Given the description of an element on the screen output the (x, y) to click on. 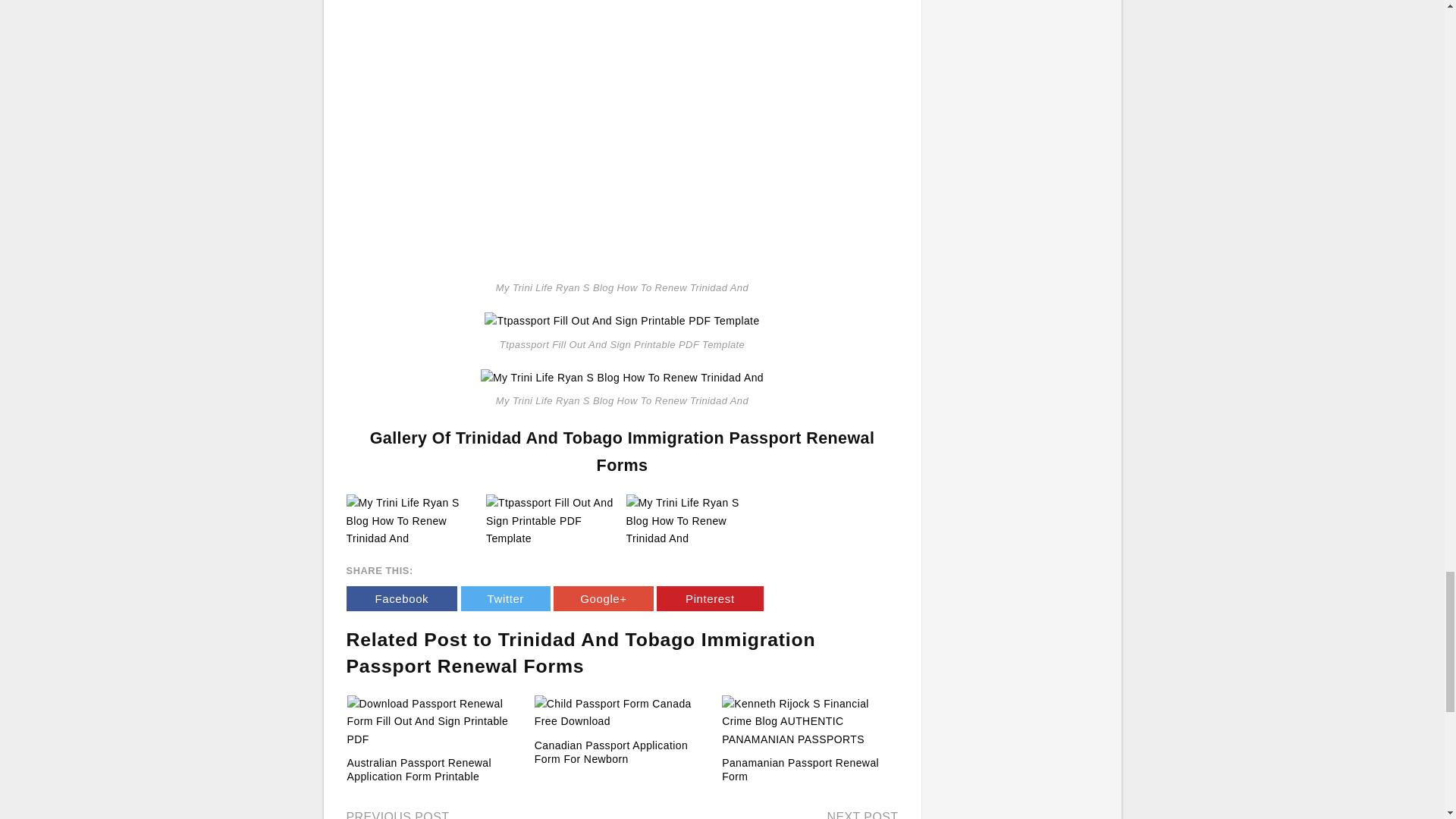
Ttpassport Fill Out And Sign Printable PDF Template (552, 520)
My Trini Life Ryan S Blog How To Renew Trinidad And (412, 520)
Twitter (505, 598)
My Trini Life Ryan S Blog How To Renew Trinidad And (692, 520)
Ttpassport Fill Out And Sign Printable PDF Template (552, 520)
My Trini Life Ryan S Blog How To Renew Trinidad And (412, 520)
My Trini Life Ryan S Blog How To Renew Trinidad And (692, 520)
Ttpassport Fill Out And Sign Printable PDF Template (621, 320)
Australian Passport Renewal Application Form Printable (434, 721)
Pinterest (709, 598)
